Given the description of an element on the screen output the (x, y) to click on. 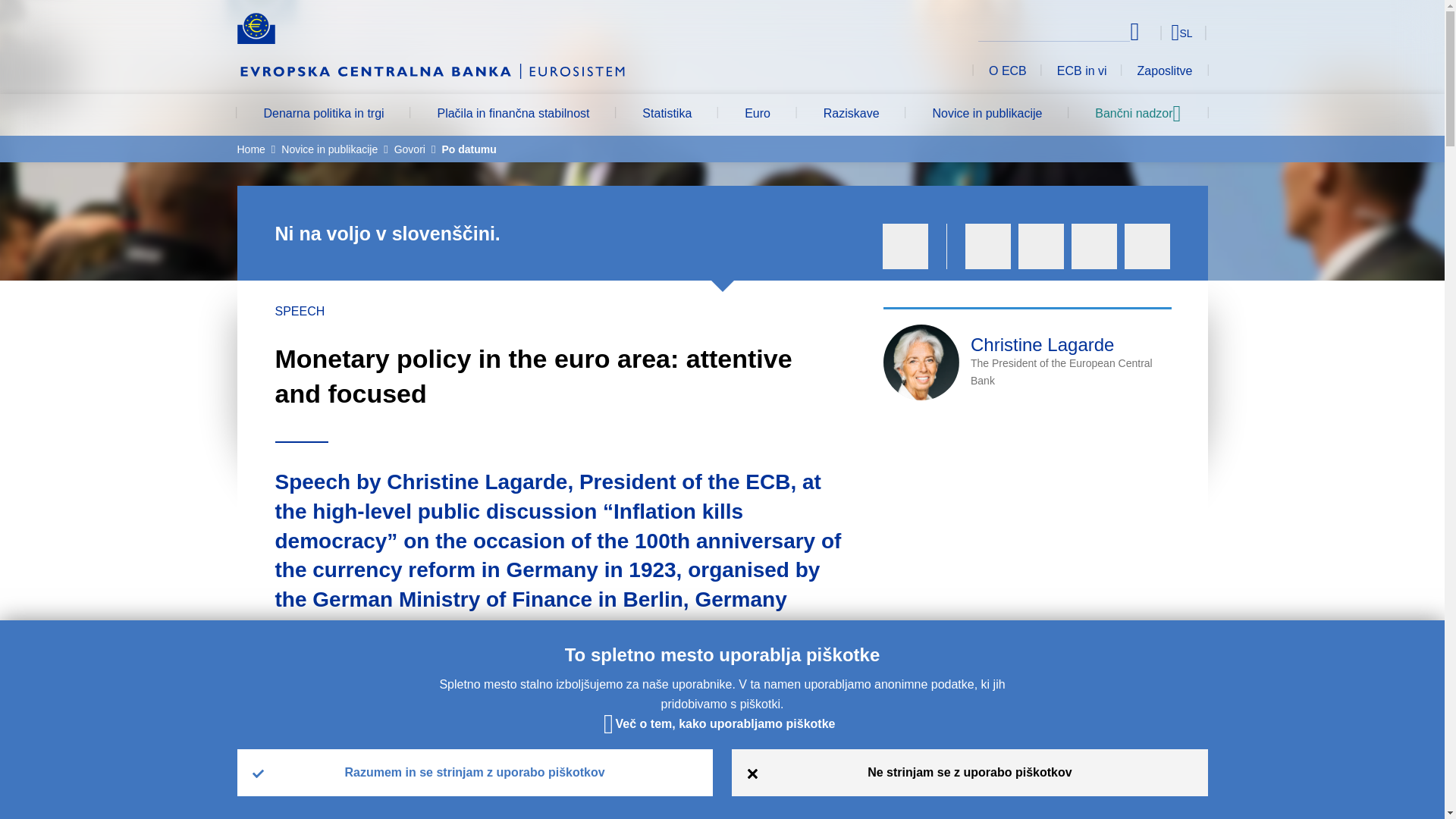
Denarna politika in trgi (322, 114)
Select language (1153, 32)
